Given the description of an element on the screen output the (x, y) to click on. 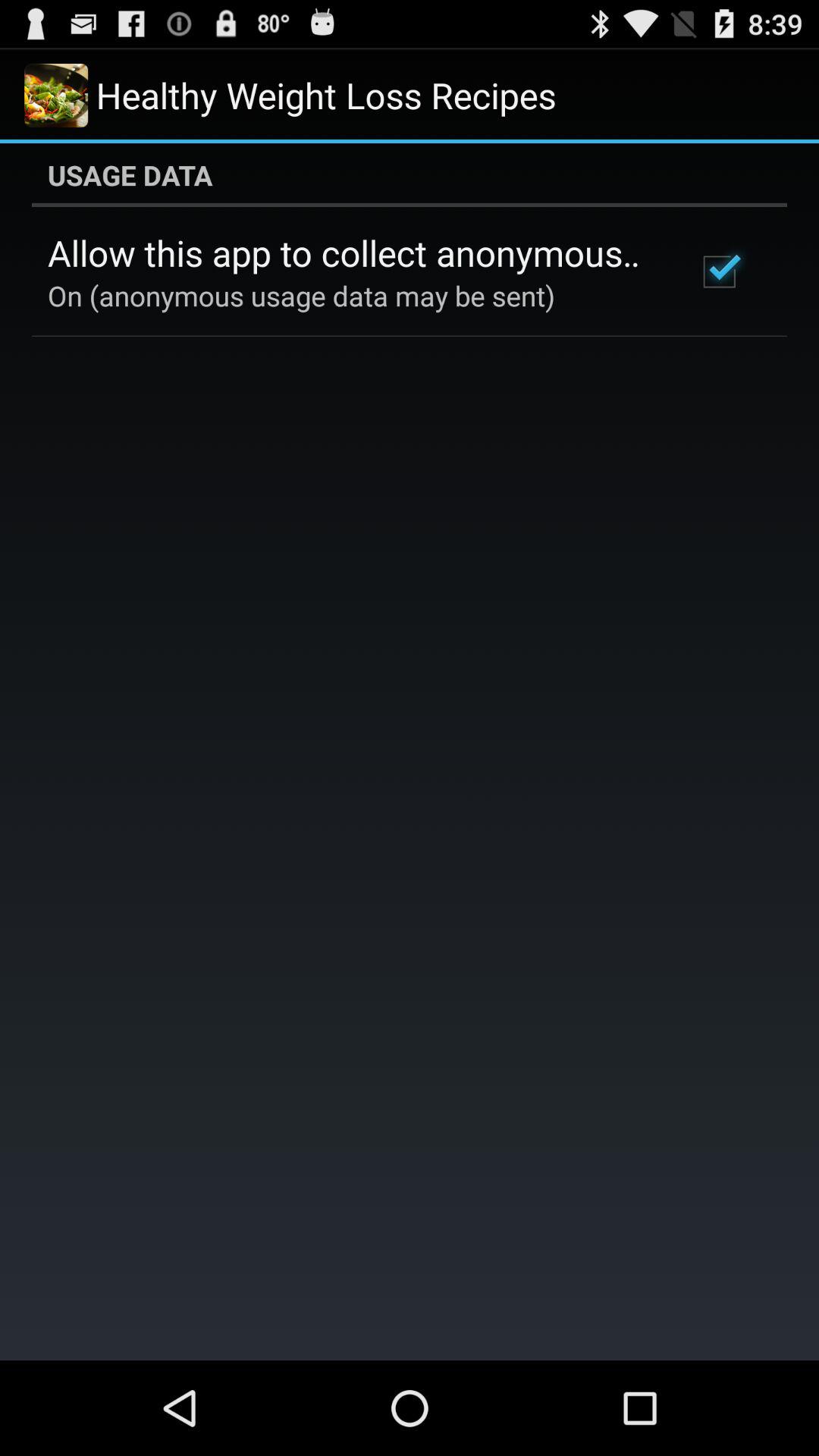
turn off icon above on anonymous usage app (351, 252)
